Given the description of an element on the screen output the (x, y) to click on. 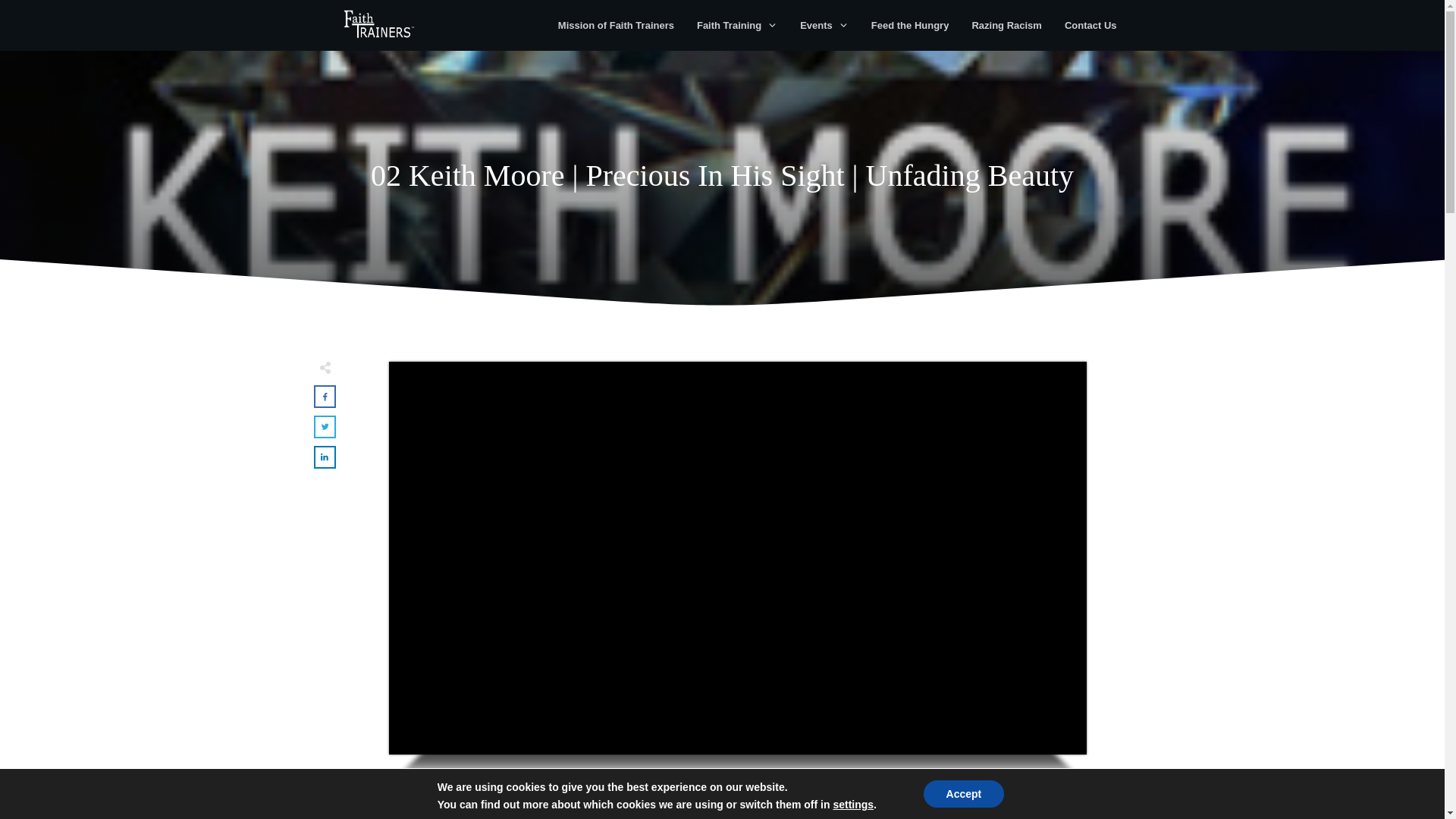
Contact Us (1090, 25)
Events (823, 25)
Razing Racism (1006, 25)
Feed the Hungry (909, 25)
Faith Training (737, 25)
Mission of Faith Trainers (615, 25)
